Given the description of an element on the screen output the (x, y) to click on. 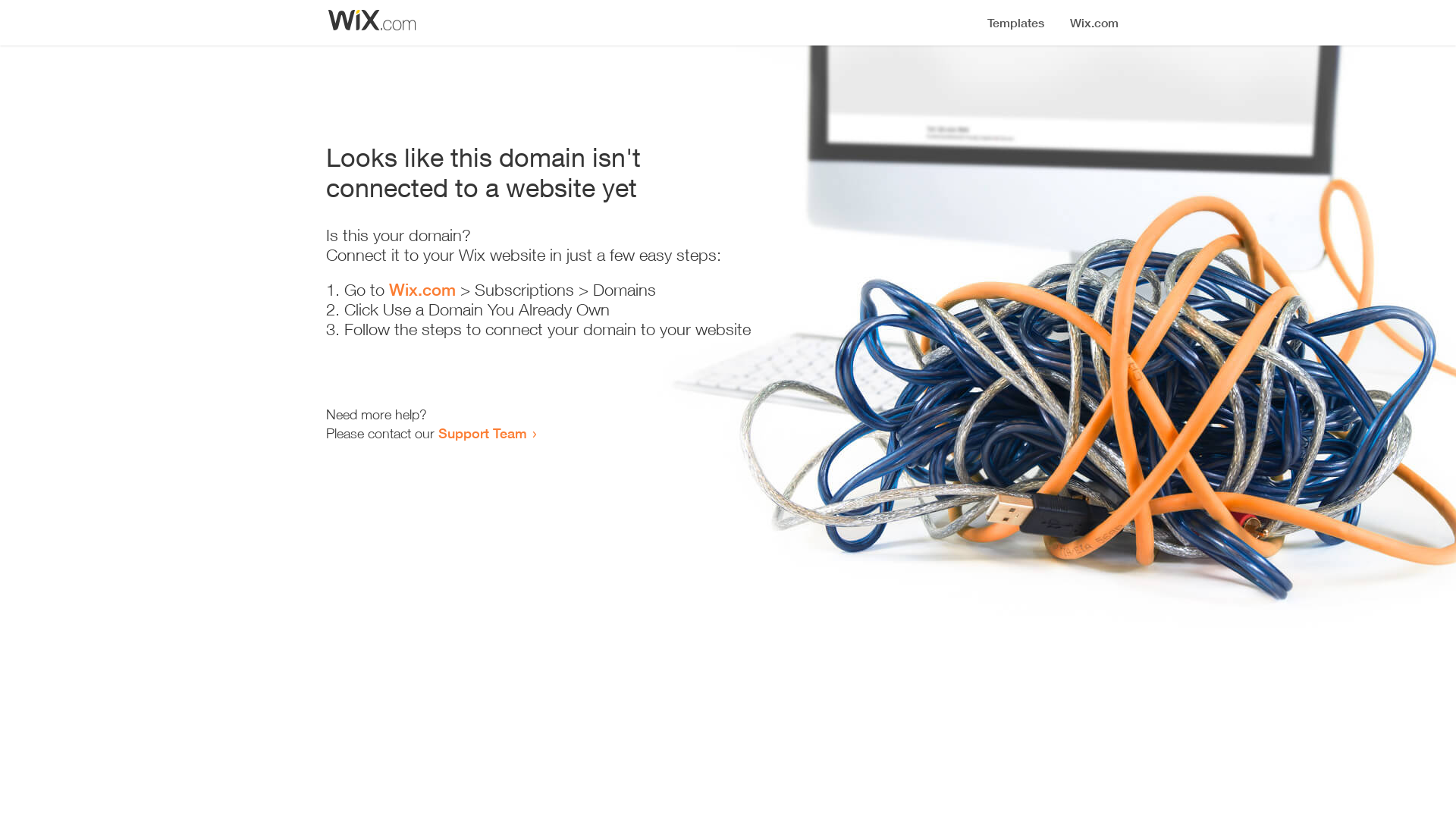
Support Team Element type: text (482, 432)
Wix.com Element type: text (422, 289)
